Given the description of an element on the screen output the (x, y) to click on. 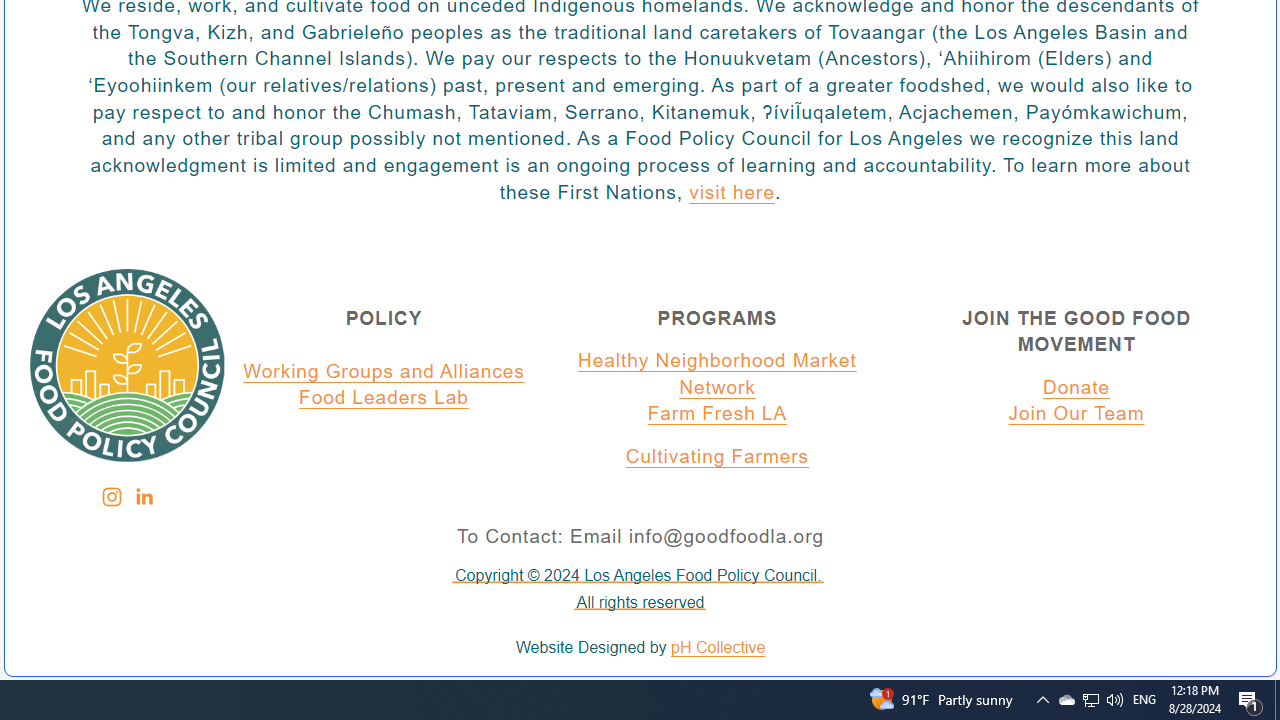
Donate (1076, 387)
Healthy Neighborhood Market Network (717, 374)
Instagram (111, 497)
visit here (731, 193)
Food Leaders Lab (383, 399)
Working Groups and Alliances (383, 371)
Join Our Team (1076, 415)
Farm Fresh LA (717, 415)
pH Collective (717, 647)
LinkedIn (143, 497)
Class: sqs-svg-icon--social (142, 496)
Cultivating Farmers  (717, 457)
